Given the description of an element on the screen output the (x, y) to click on. 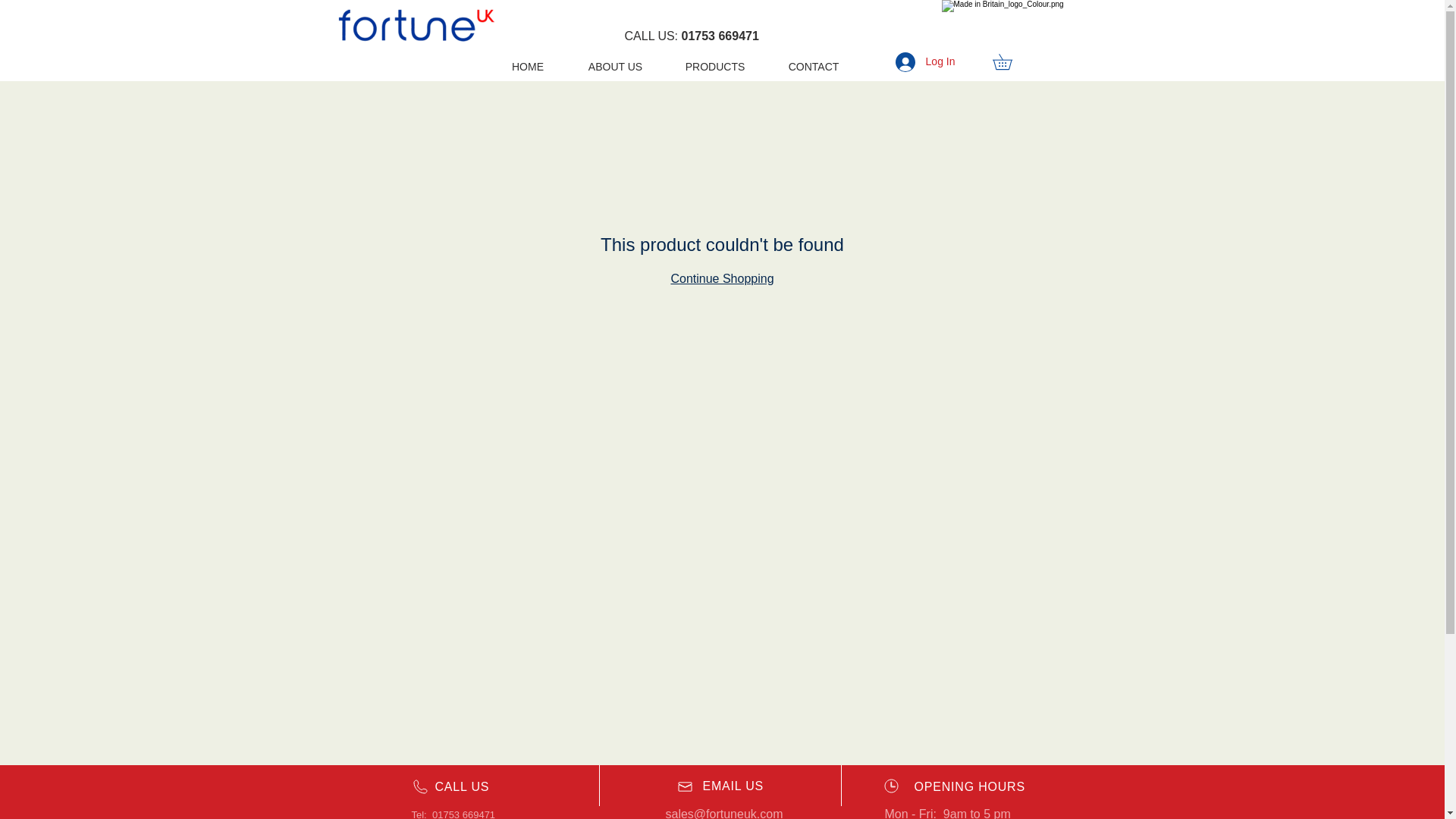
Continue Shopping (721, 278)
CONTACT (813, 59)
ABOUT US (614, 59)
HOME (527, 59)
PRODUCTS (714, 59)
Log In (925, 61)
